Given the description of an element on the screen output the (x, y) to click on. 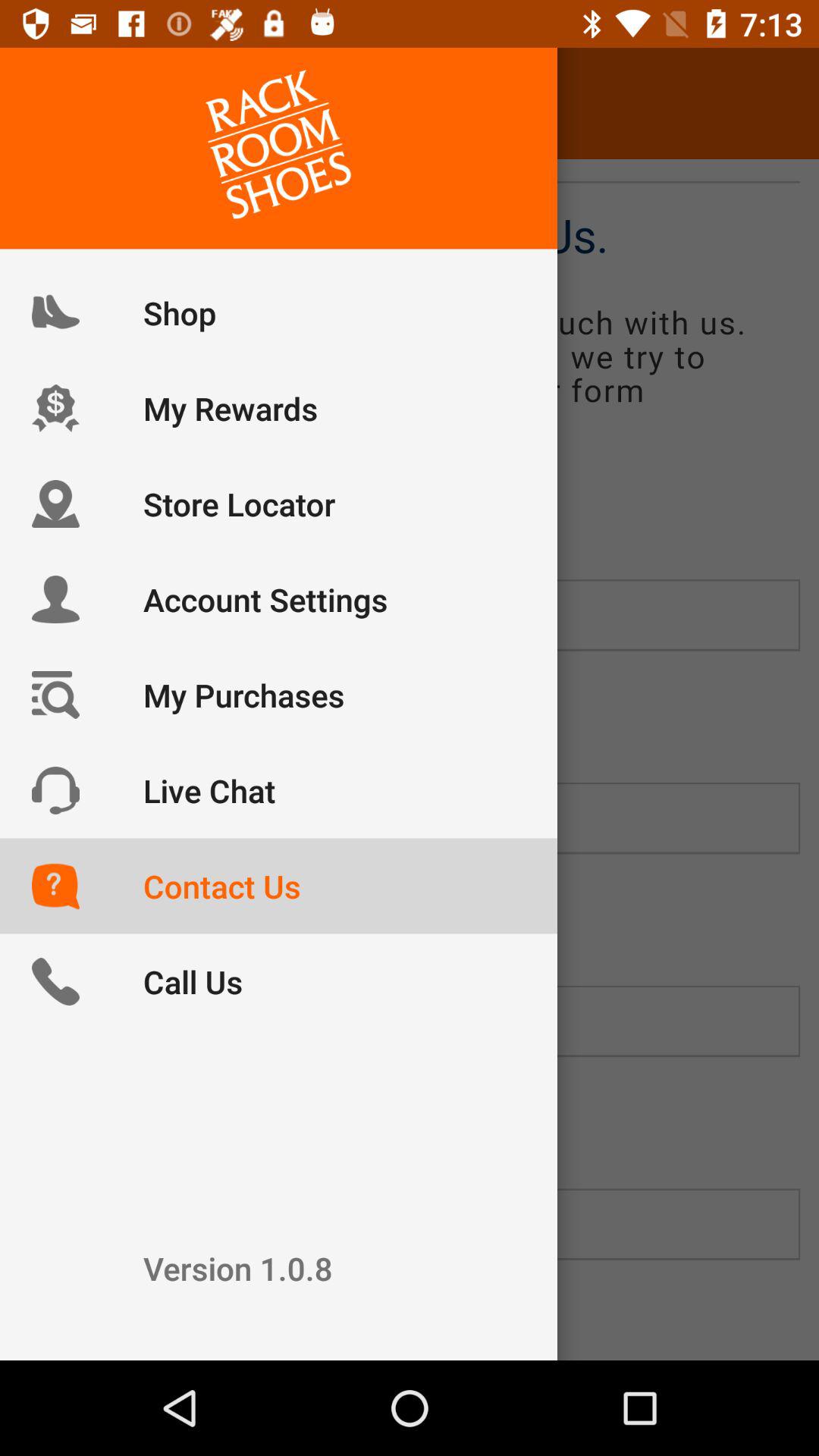
tap the item to the left of contact us icon (55, 103)
